Given the description of an element on the screen output the (x, y) to click on. 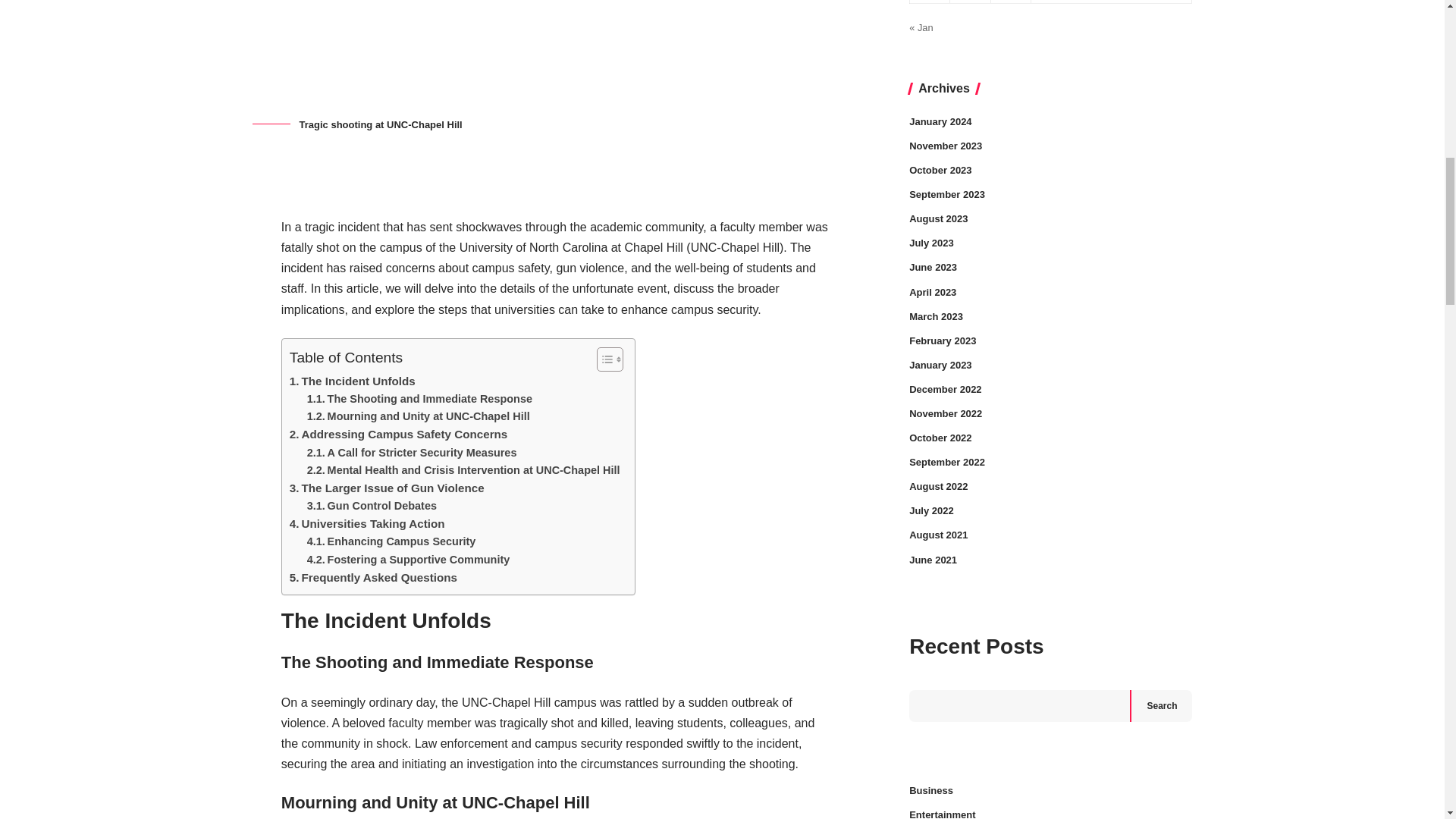
The Shooting and Immediate Response (419, 398)
A Call for Stricter Security Measures (411, 452)
Addressing Campus Safety Concerns (397, 434)
The Larger Issue of Gun Violence (386, 488)
Mental Health and Crisis Intervention at UNC-Chapel Hill (463, 470)
The Incident Unfolds (351, 381)
Mourning and Unity at UNC-Chapel Hill (418, 416)
